Given the description of an element on the screen output the (x, y) to click on. 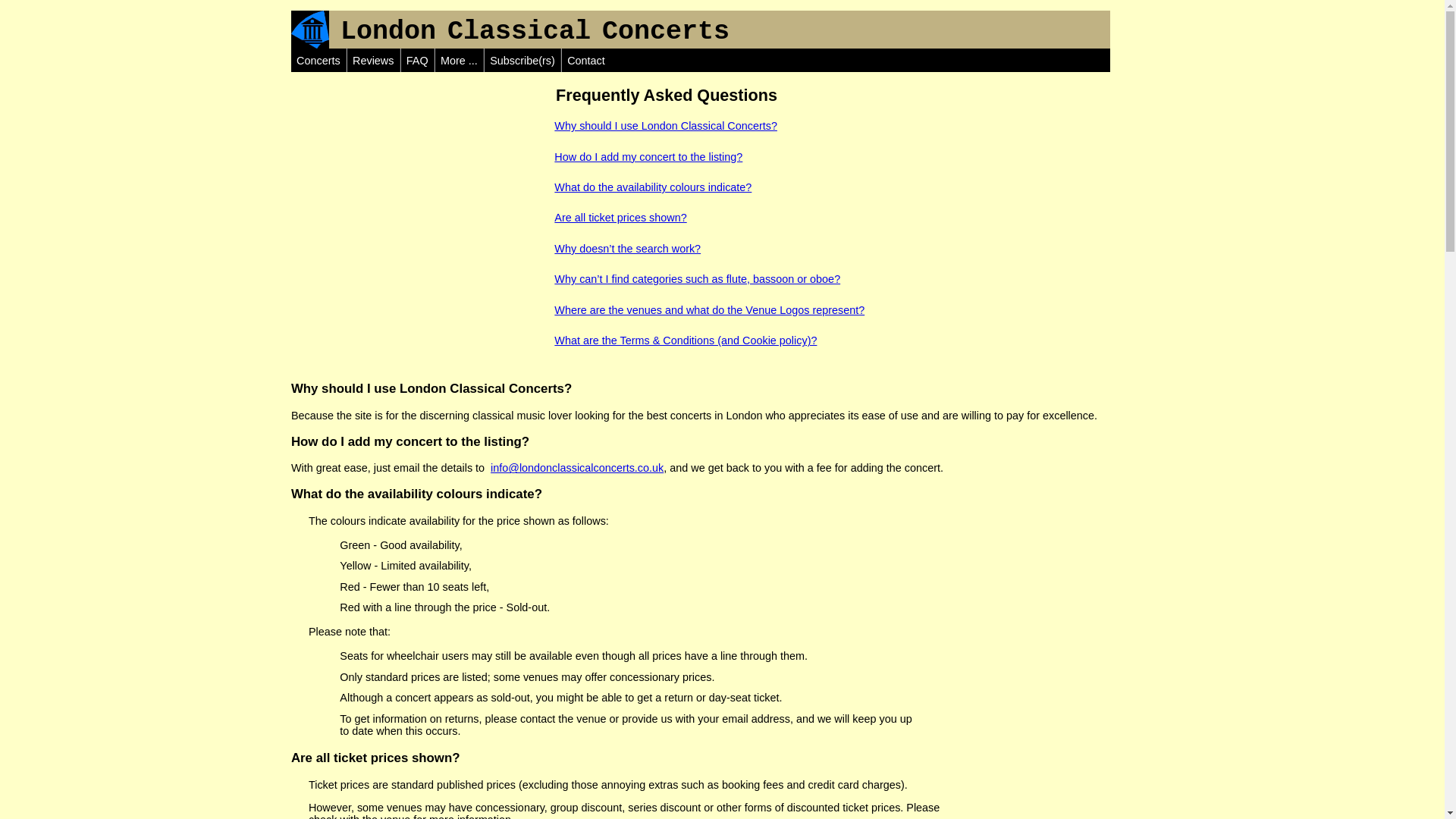
Concerts (318, 60)
Contact (586, 60)
How do I add my concert to the listing? (648, 155)
Why should I use London Classical Concerts? (665, 125)
Reviews (372, 60)
Are all ticket prices shown? (619, 217)
FAQ (417, 60)
More ... (459, 60)
What do the availability colours indicate? (652, 186)
LondonClassicalConcerts (529, 31)
